Given the description of an element on the screen output the (x, y) to click on. 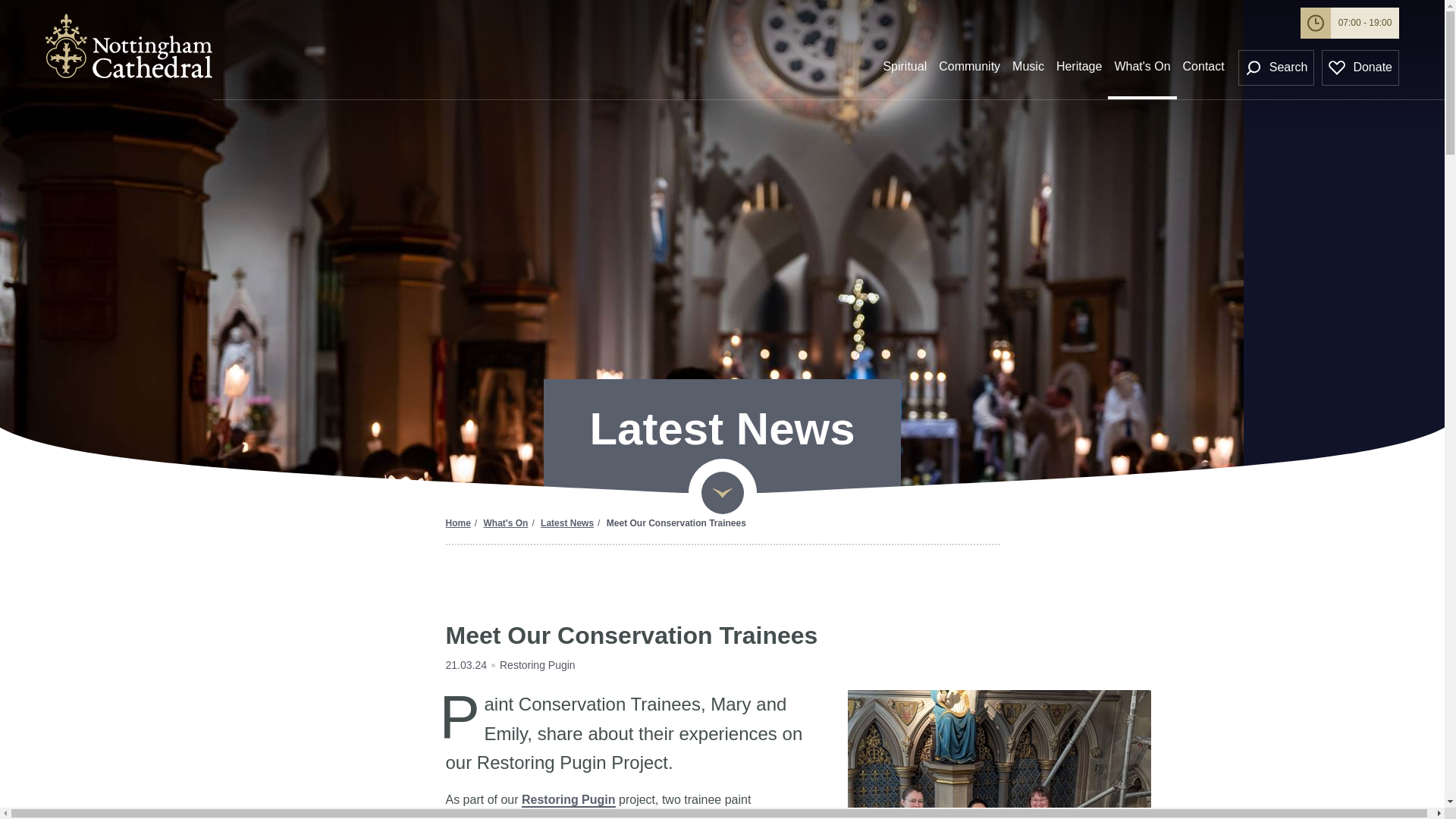
What's On (1142, 74)
Contact (1203, 74)
Music (1027, 74)
Community (969, 74)
Donate (1360, 67)
Heritage (1078, 74)
Spiritual (904, 74)
Search (1276, 67)
Restoring Pugin (568, 800)
